Given the description of an element on the screen output the (x, y) to click on. 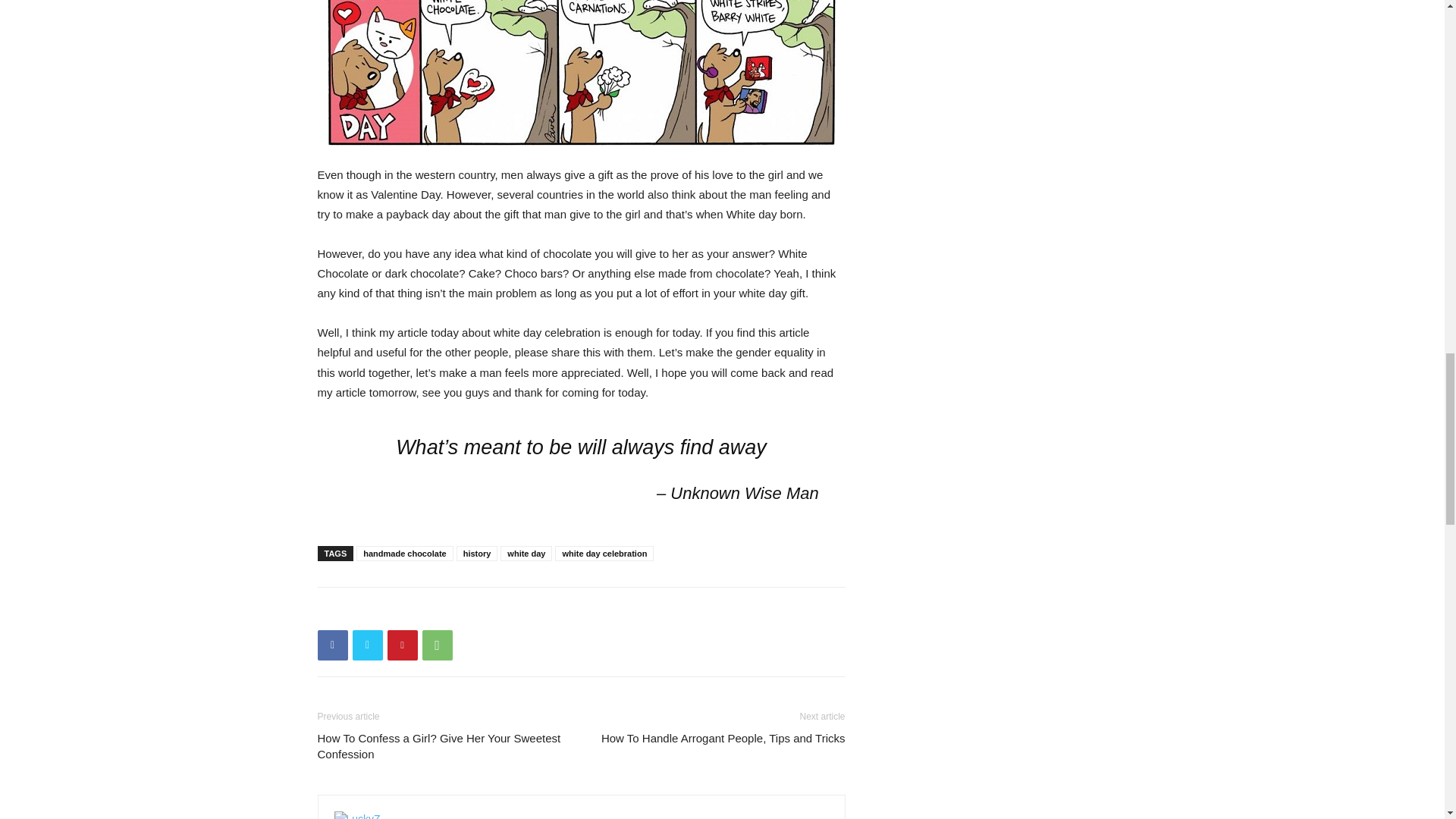
Facebook (332, 644)
How To Confess a Girl? Give Her Your Sweetest Confession (439, 746)
history (477, 553)
white day (525, 553)
How To Handle Arrogant People, Tips and Tricks (723, 738)
handmade chocolate (404, 553)
bottomFacebookLike (430, 611)
white day celebration (603, 553)
WhatsApp (436, 644)
Twitter (366, 644)
Pinterest (401, 644)
